Given the description of an element on the screen output the (x, y) to click on. 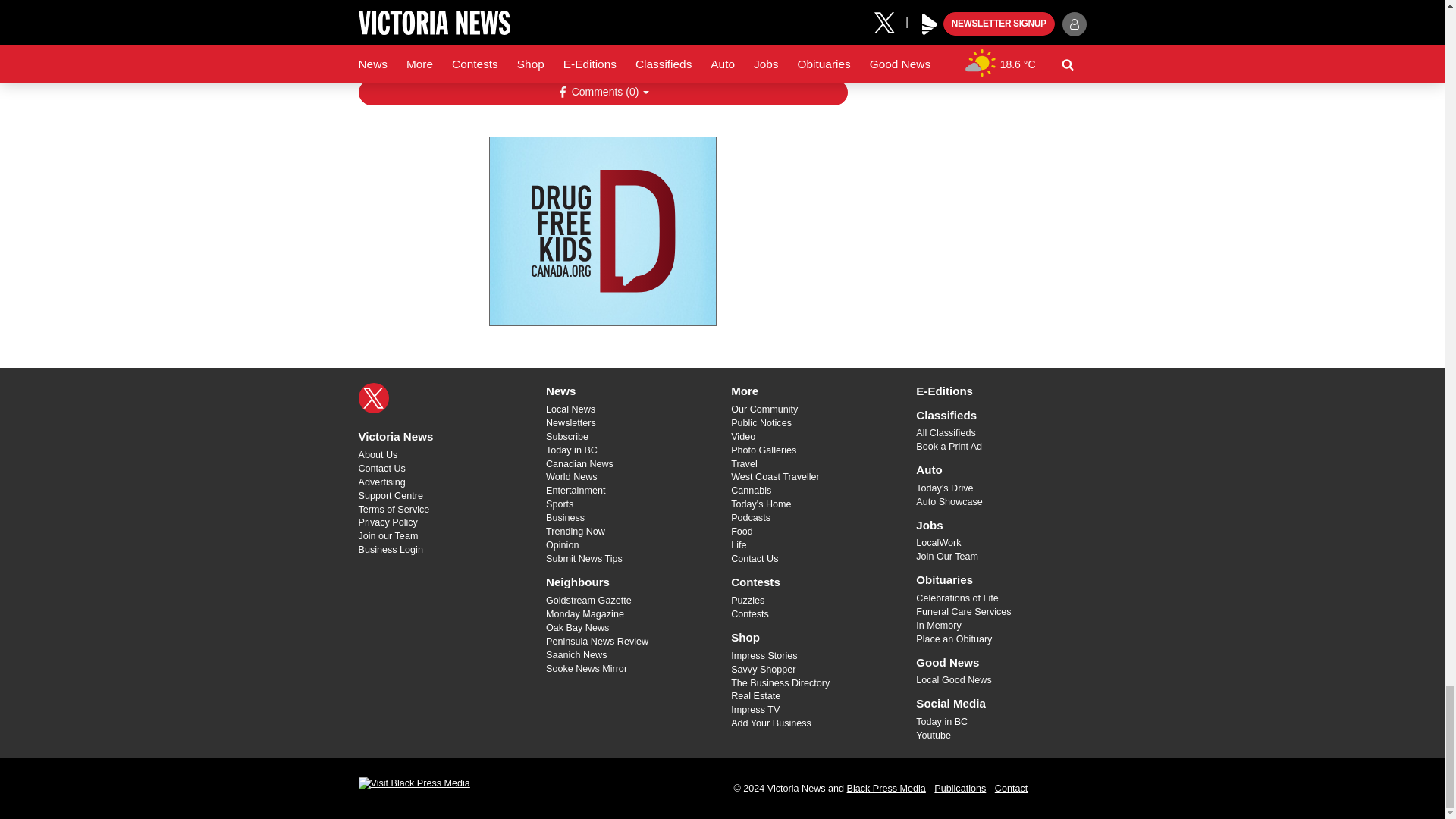
X (373, 398)
Show Comments (602, 92)
3rd party ad content (602, 230)
